Given the description of an element on the screen output the (x, y) to click on. 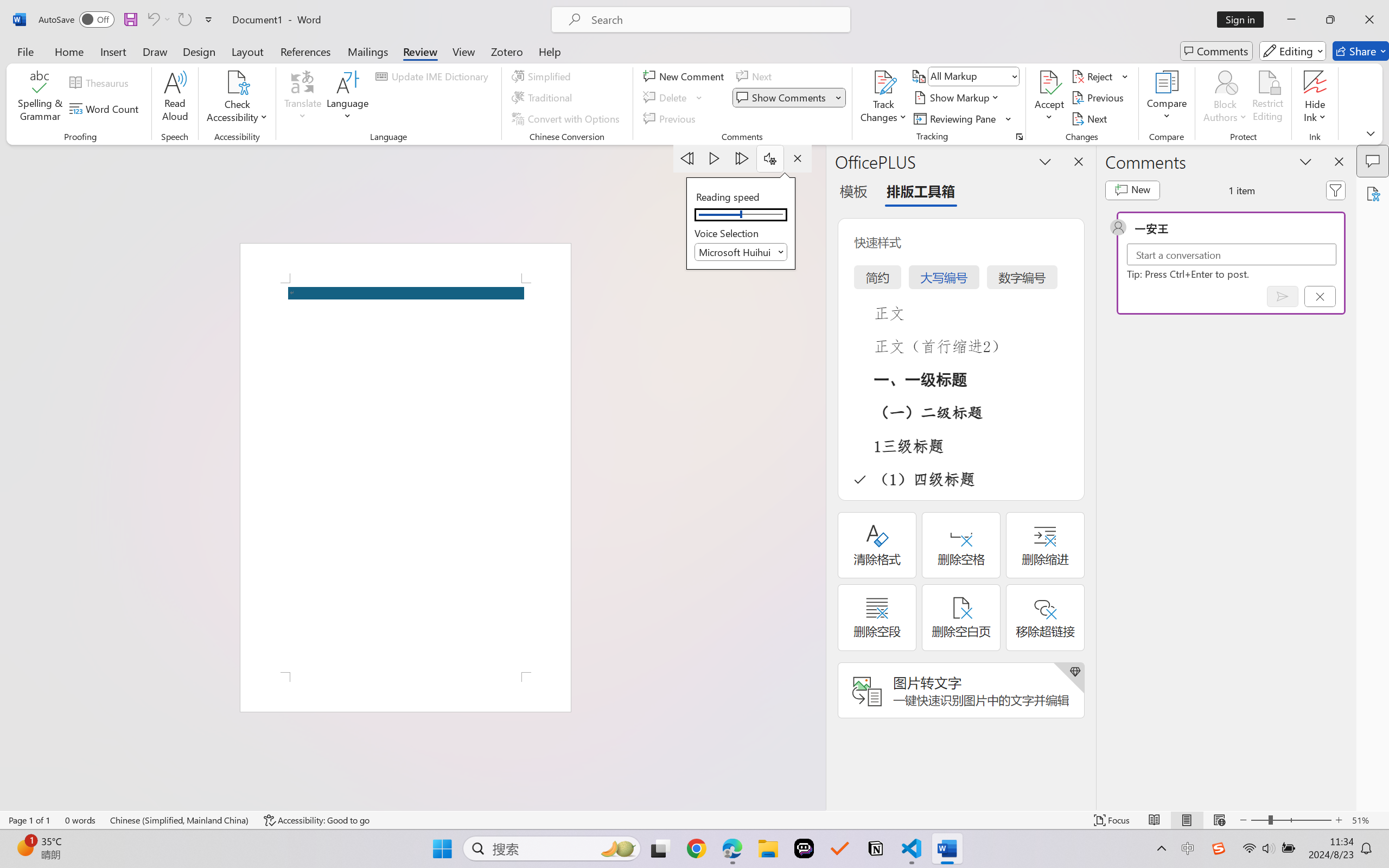
Previous (1099, 97)
Post comment (Ctrl + Enter) (1282, 296)
New comment (1132, 190)
Reading speed (740, 214)
Track Changes (883, 81)
